Given the description of an element on the screen output the (x, y) to click on. 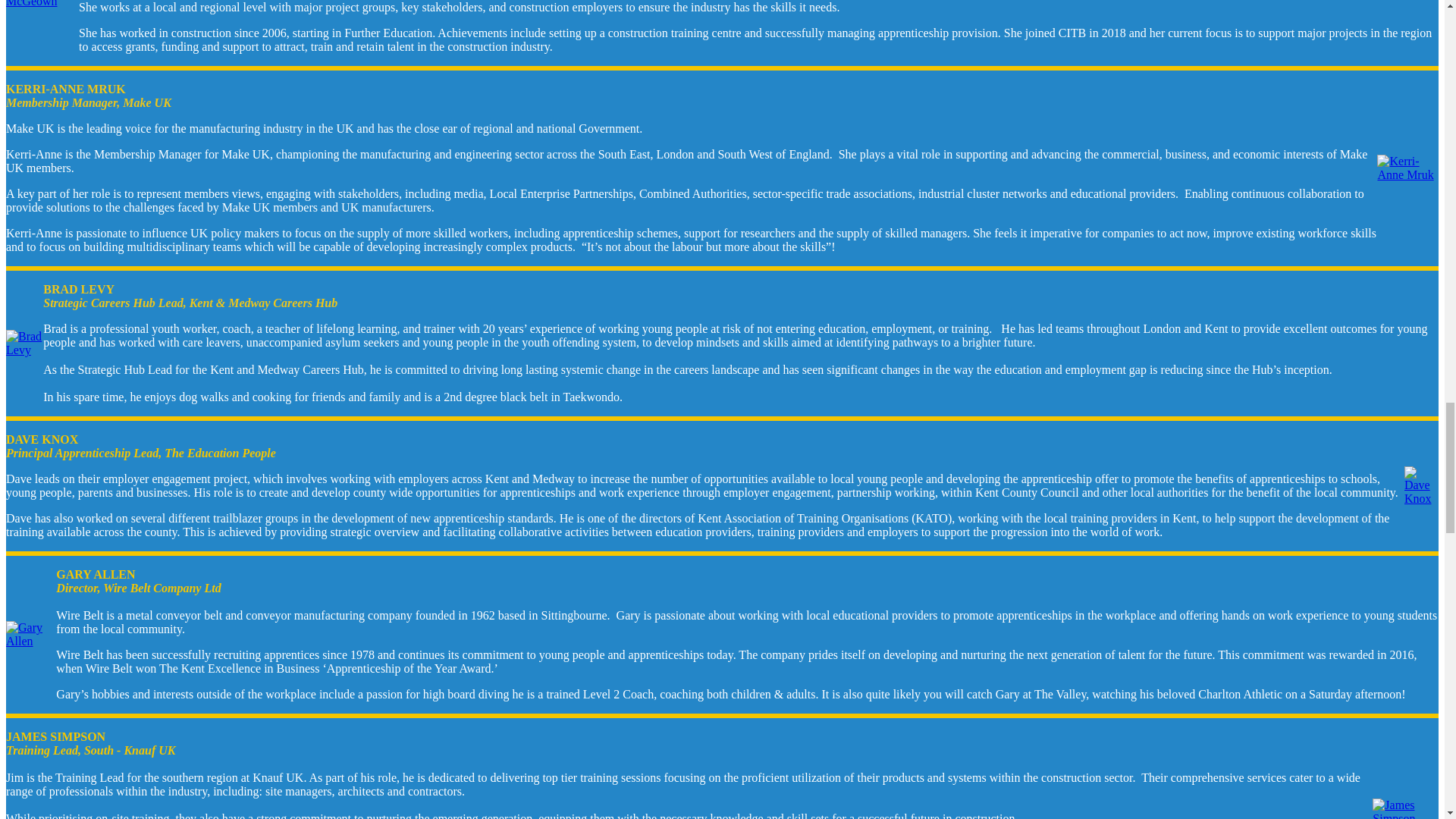
Celine McGeown (41, 4)
Gary Allen (30, 634)
Brad Levy (24, 343)
